Given the description of an element on the screen output the (x, y) to click on. 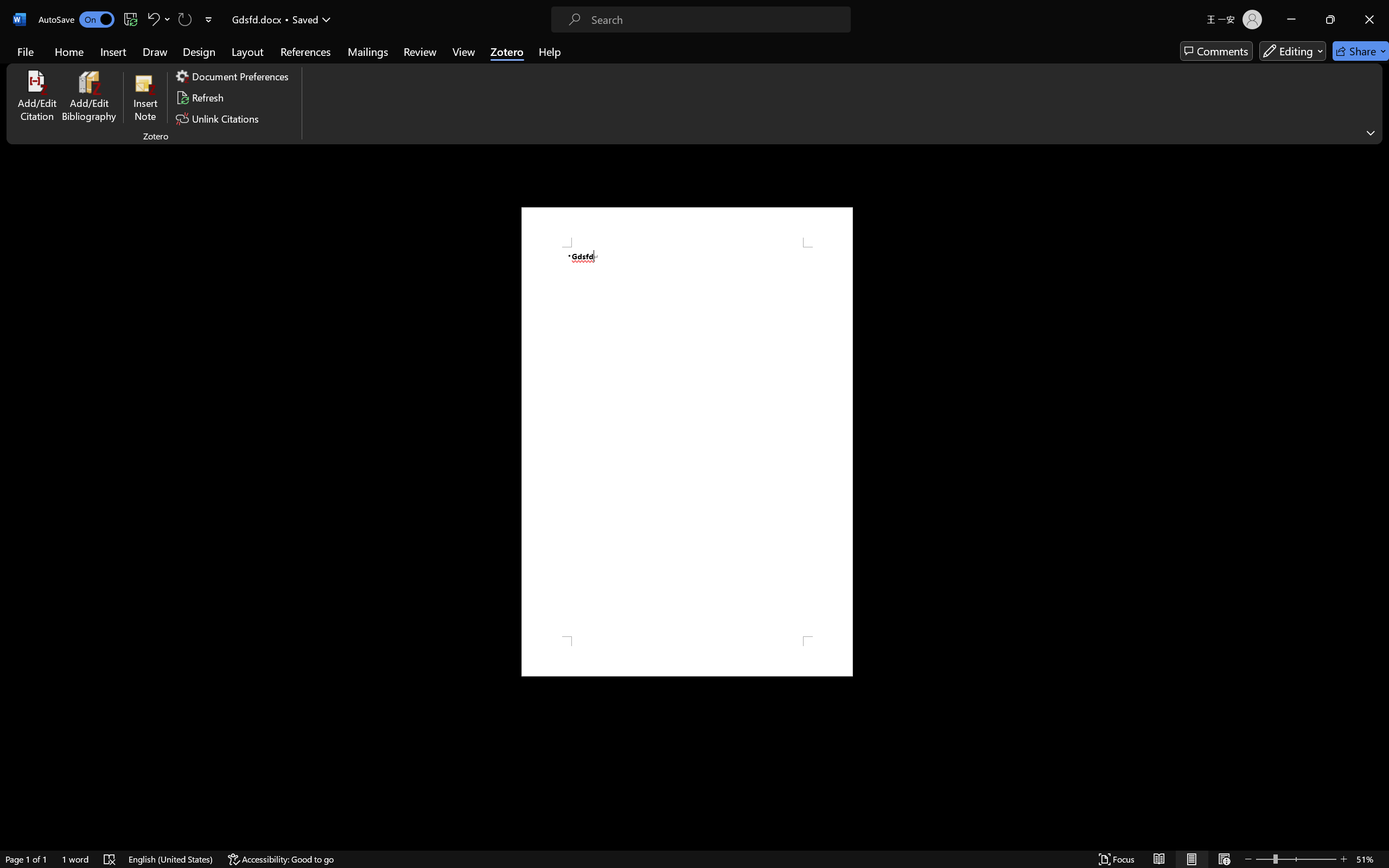
Page 1 content (686, 441)
